Given the description of an element on the screen output the (x, y) to click on. 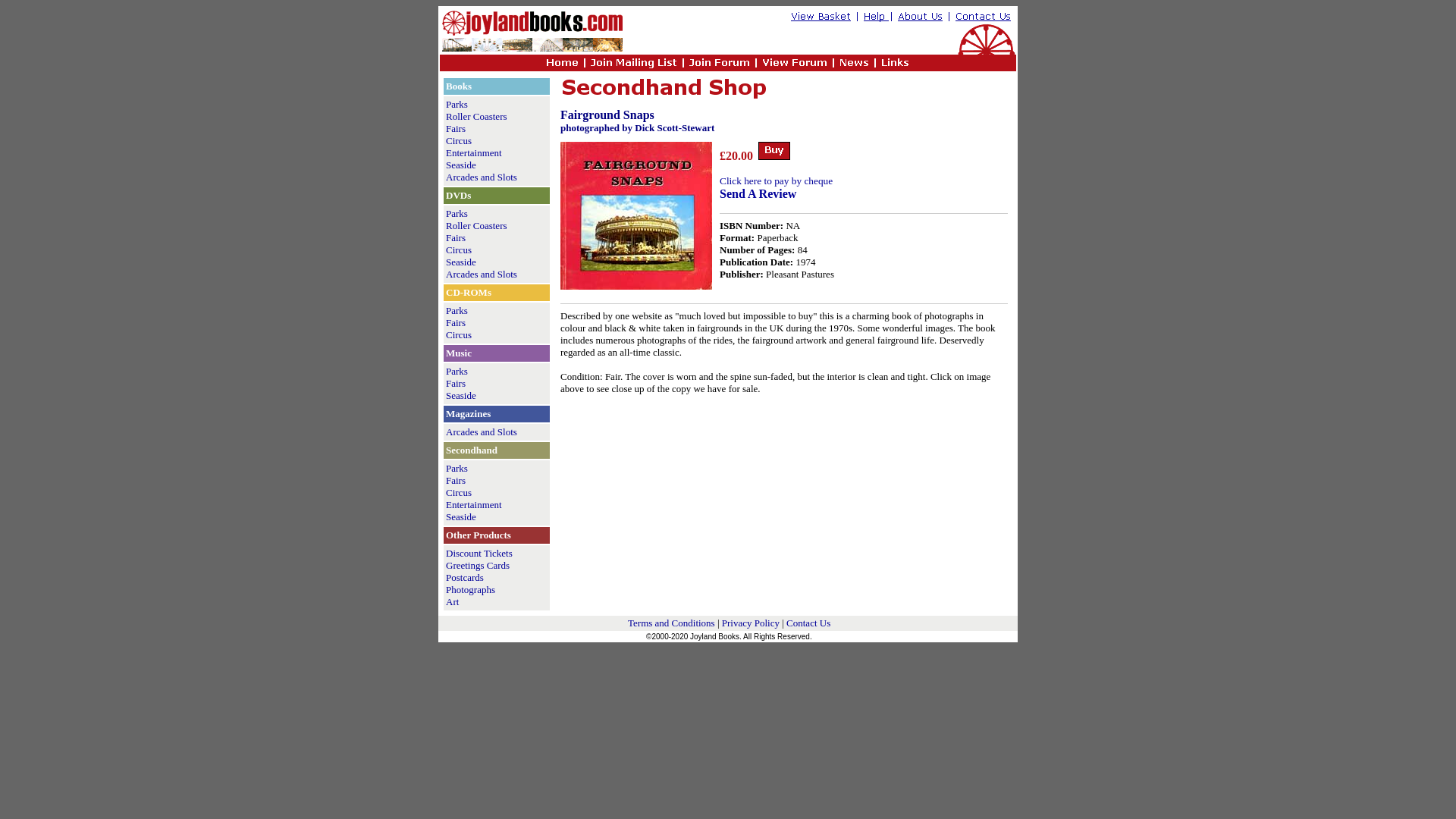
Seaside (460, 516)
Postcards (464, 577)
Fairs (455, 128)
Other Products (478, 534)
Fairs (455, 480)
Entertainment (473, 152)
Parks (456, 213)
Circus (458, 334)
Fairs (455, 322)
Click here to pay by cheque (775, 180)
Entertainment (473, 504)
Seaside (460, 261)
DVDs (457, 194)
Parks (456, 370)
Circus (458, 140)
